Given the description of an element on the screen output the (x, y) to click on. 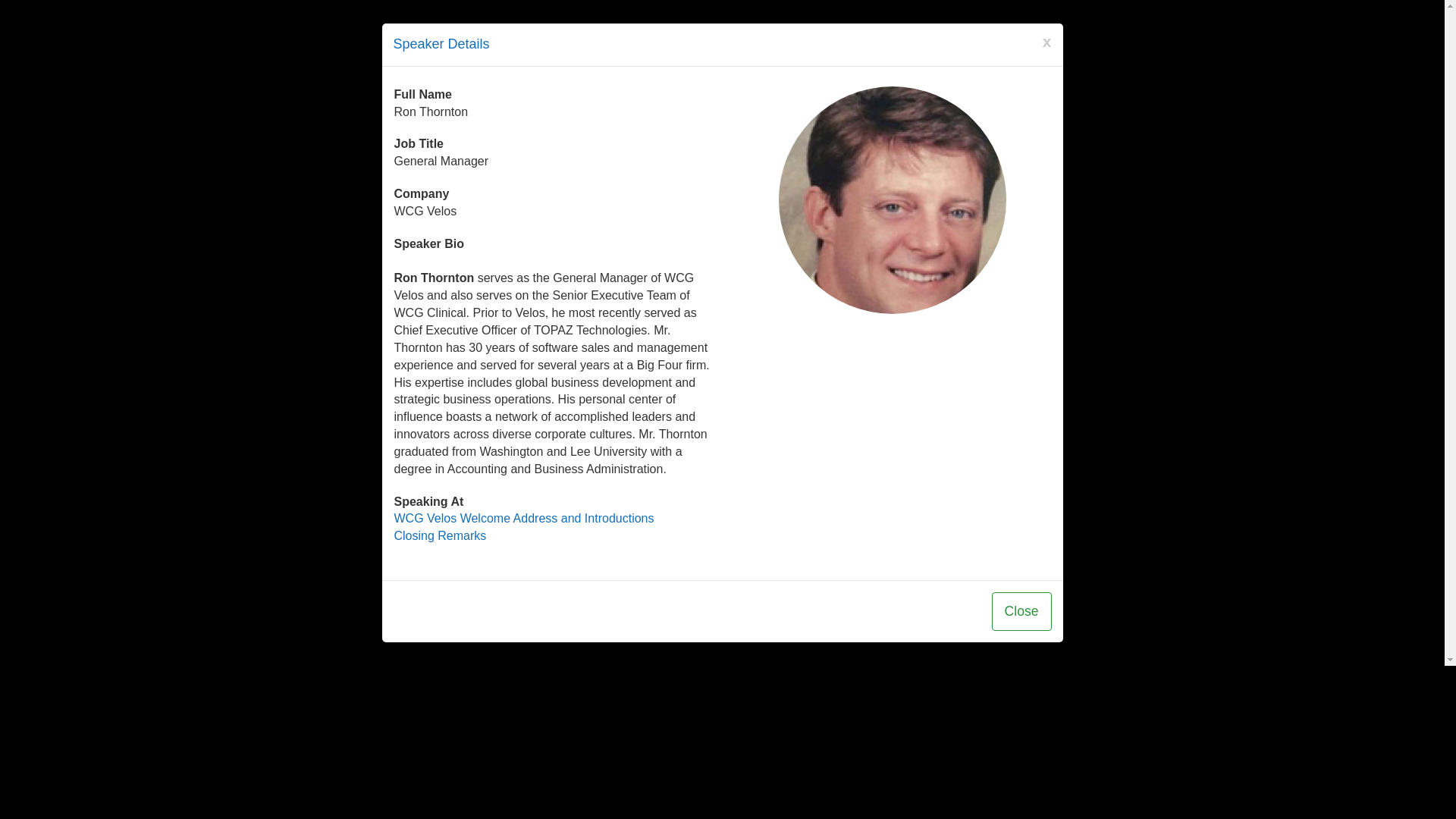
Close (1021, 611)
WCG Velos Welcome Address and Introductions (523, 517)
Session Details (523, 517)
Closing Remarks (440, 535)
Session Details (440, 535)
